Given the description of an element on the screen output the (x, y) to click on. 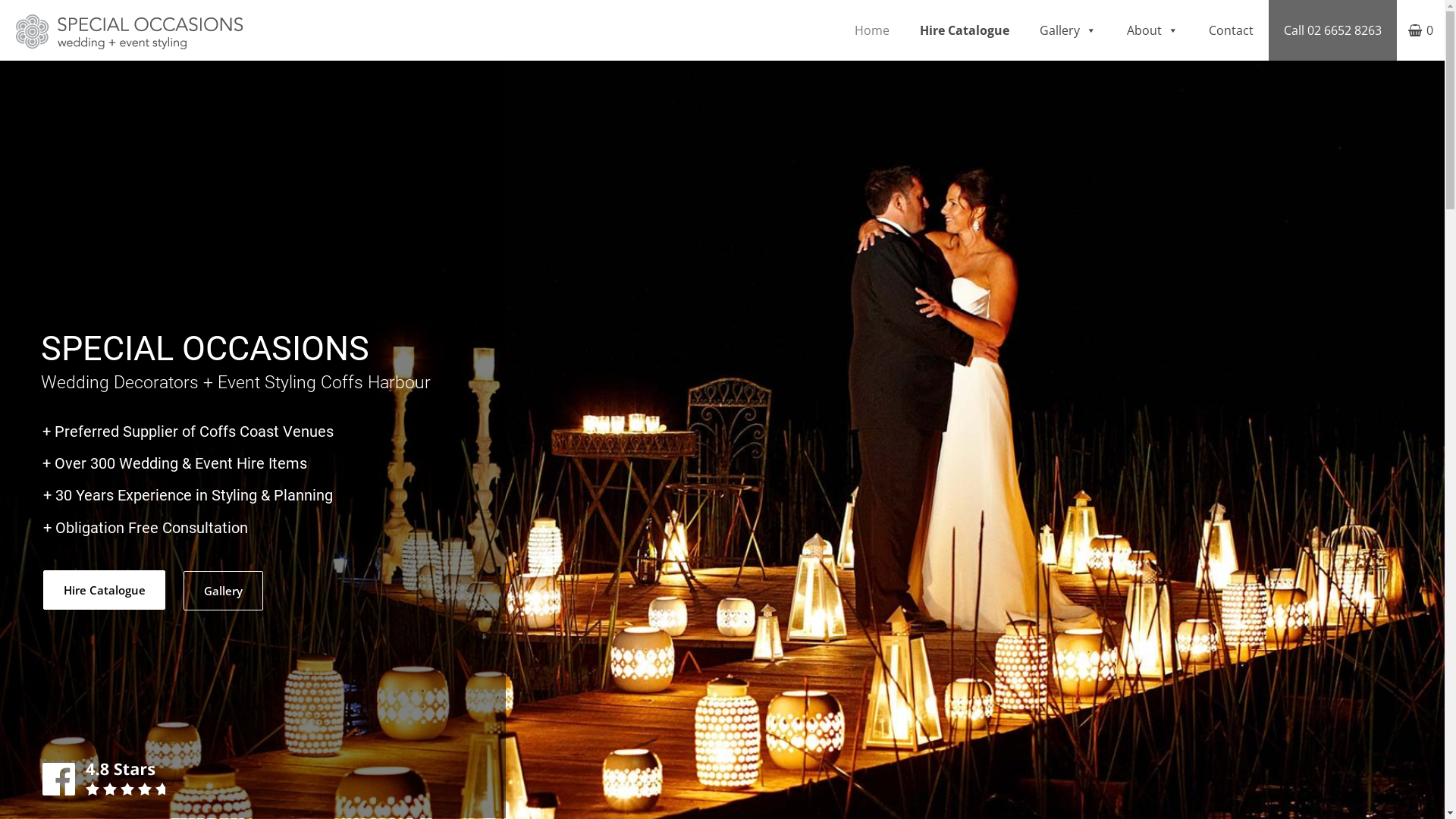
Gallery Element type: text (1067, 30)
Gallery Element type: text (223, 590)
About Element type: text (1152, 30)
Hire Catalogue Element type: text (104, 589)
Call 02 6652 8263 Element type: text (1332, 30)
Home Element type: text (871, 30)
Hire Catalogue Element type: text (964, 30)
0 Element type: text (1420, 30)
Contact Element type: text (1230, 30)
